Given the description of an element on the screen output the (x, y) to click on. 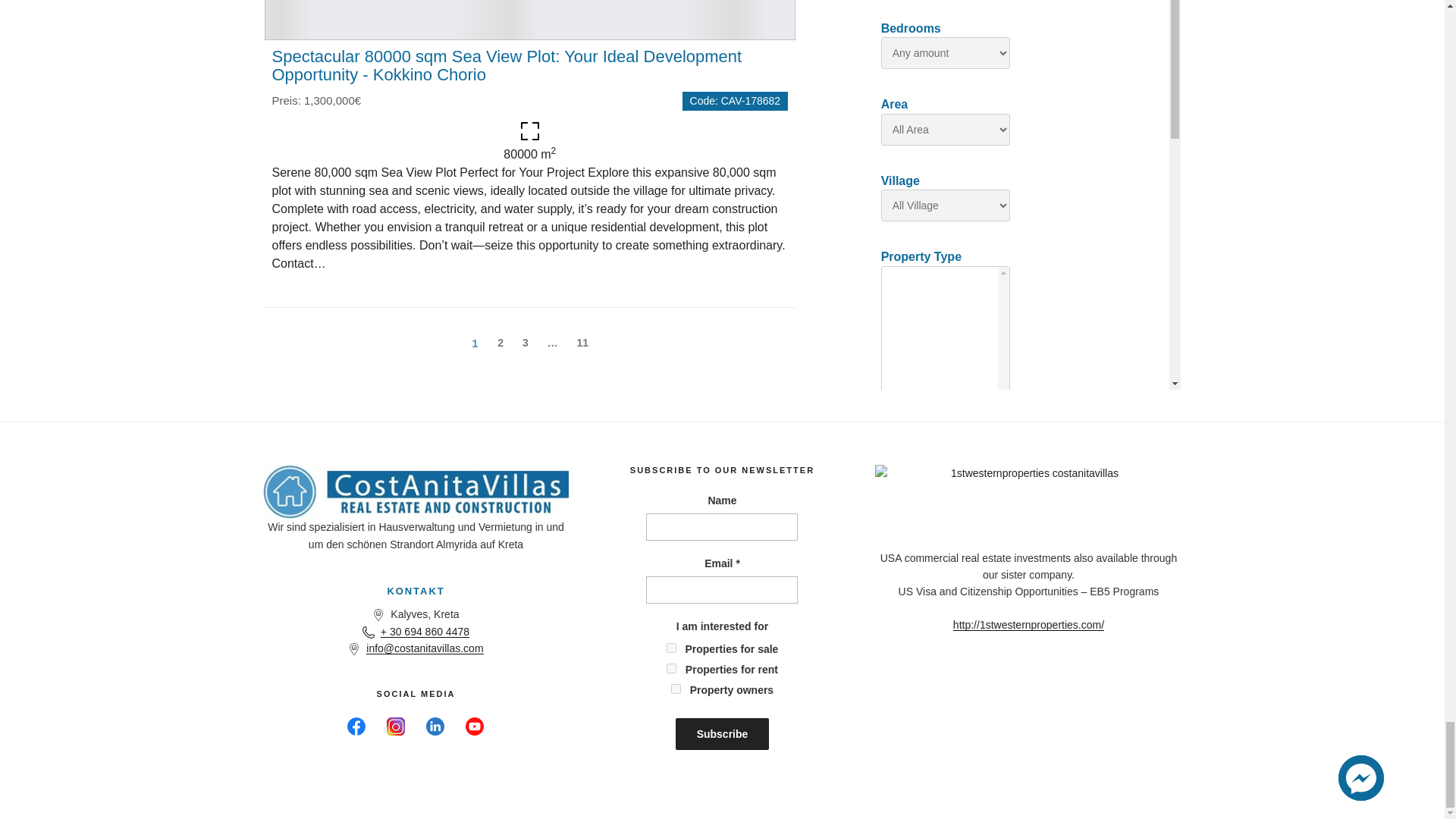
3 (524, 343)
2 (500, 343)
3 (671, 668)
4 (671, 647)
11 (582, 343)
5 (676, 688)
Subscribe (722, 734)
Name (721, 526)
Email (721, 589)
